Given the description of an element on the screen output the (x, y) to click on. 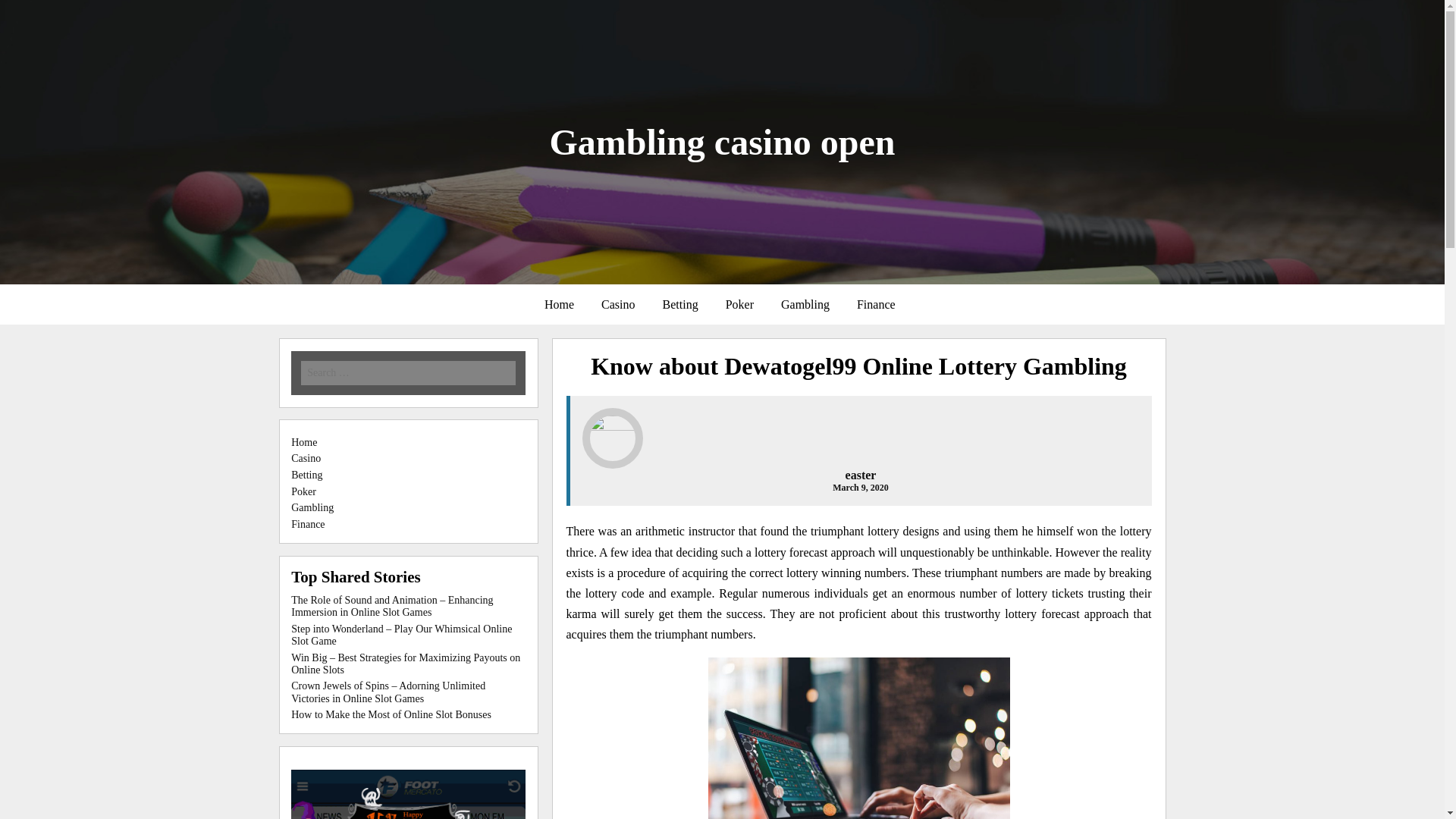
View all posts by easter (860, 474)
Poker (739, 304)
Betting (306, 474)
Gambling (804, 304)
Search (216, 11)
Casino (305, 458)
9:17 am (860, 487)
March 9, 2020 (860, 487)
Gambling casino open (721, 142)
How to Make the Most of Online Slot Bonuses (391, 714)
Home (304, 441)
Poker (303, 491)
Finance (875, 304)
Gambling (312, 507)
easter (860, 474)
